Given the description of an element on the screen output the (x, y) to click on. 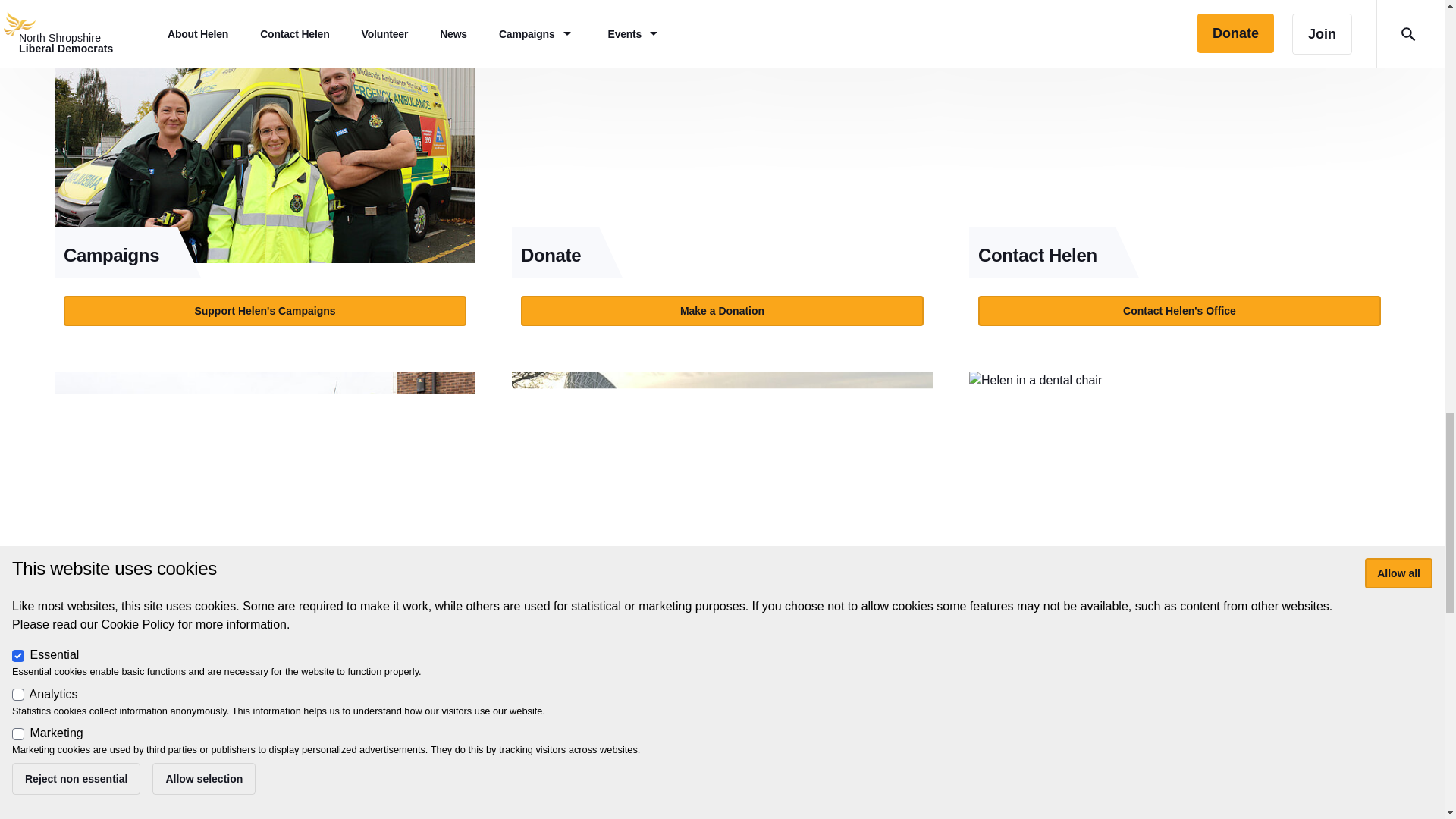
Contact Helen (1179, 144)
View (265, 180)
Contact Helen's Office (1179, 310)
Ambulance Campaign (265, 489)
Make a Donation (722, 310)
View (1179, 180)
View (722, 180)
Rural Roaming Campaign (722, 489)
Support Helen's Ambulance Campaign (264, 655)
Donate (722, 144)
